Given the description of an element on the screen output the (x, y) to click on. 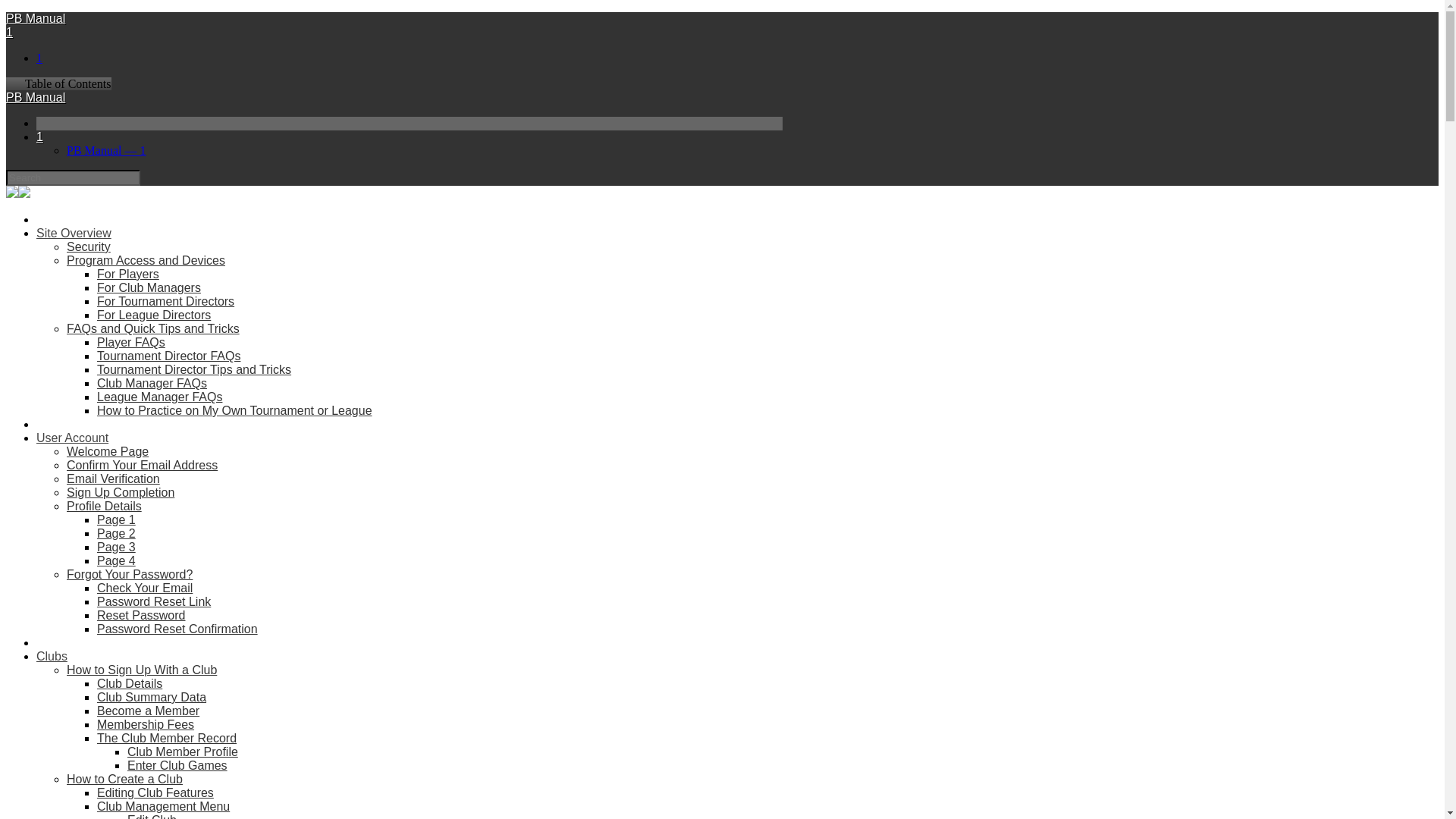
Program Access and Devices (145, 259)
PB Manual (35, 18)
Page 1 (116, 519)
Check Your Email (144, 587)
PB Manual (35, 97)
1 (9, 31)
For League Directors (154, 314)
Security (88, 246)
How to Sign Up With a Club (141, 669)
Password Reset Link (154, 601)
Clubs (51, 656)
For Players (127, 273)
Page 3 (116, 546)
For Club Managers (148, 287)
Tournament Director Tips and Tricks (194, 369)
